Given the description of an element on the screen output the (x, y) to click on. 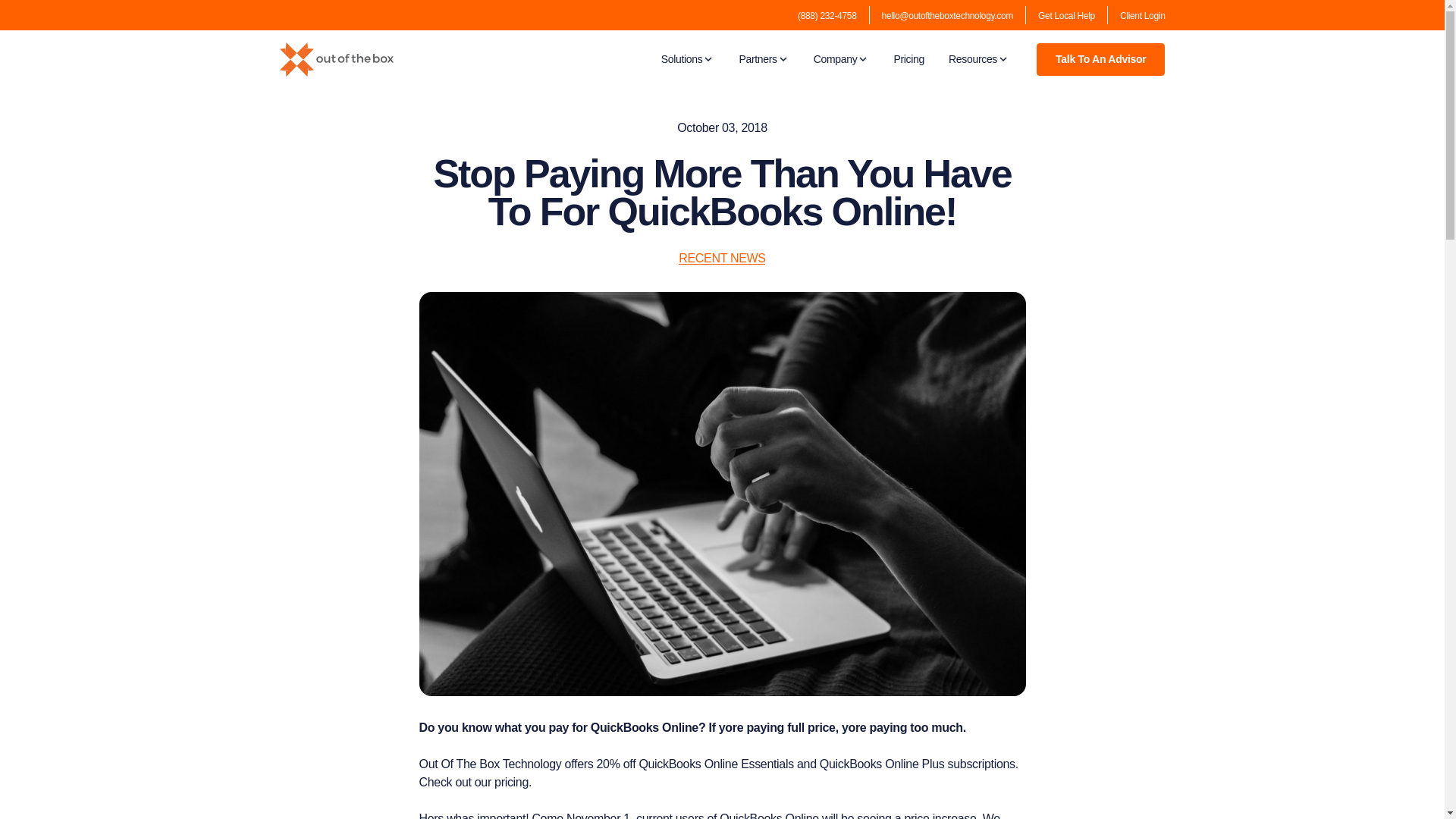
Get Local Help (1066, 15)
Client Login (1142, 15)
Resources (979, 59)
Pricing (908, 59)
Partners (763, 59)
Company (841, 59)
Talk To An Advisor (1100, 59)
RECENT NEWS (721, 257)
Solutions (687, 59)
